Given the description of an element on the screen output the (x, y) to click on. 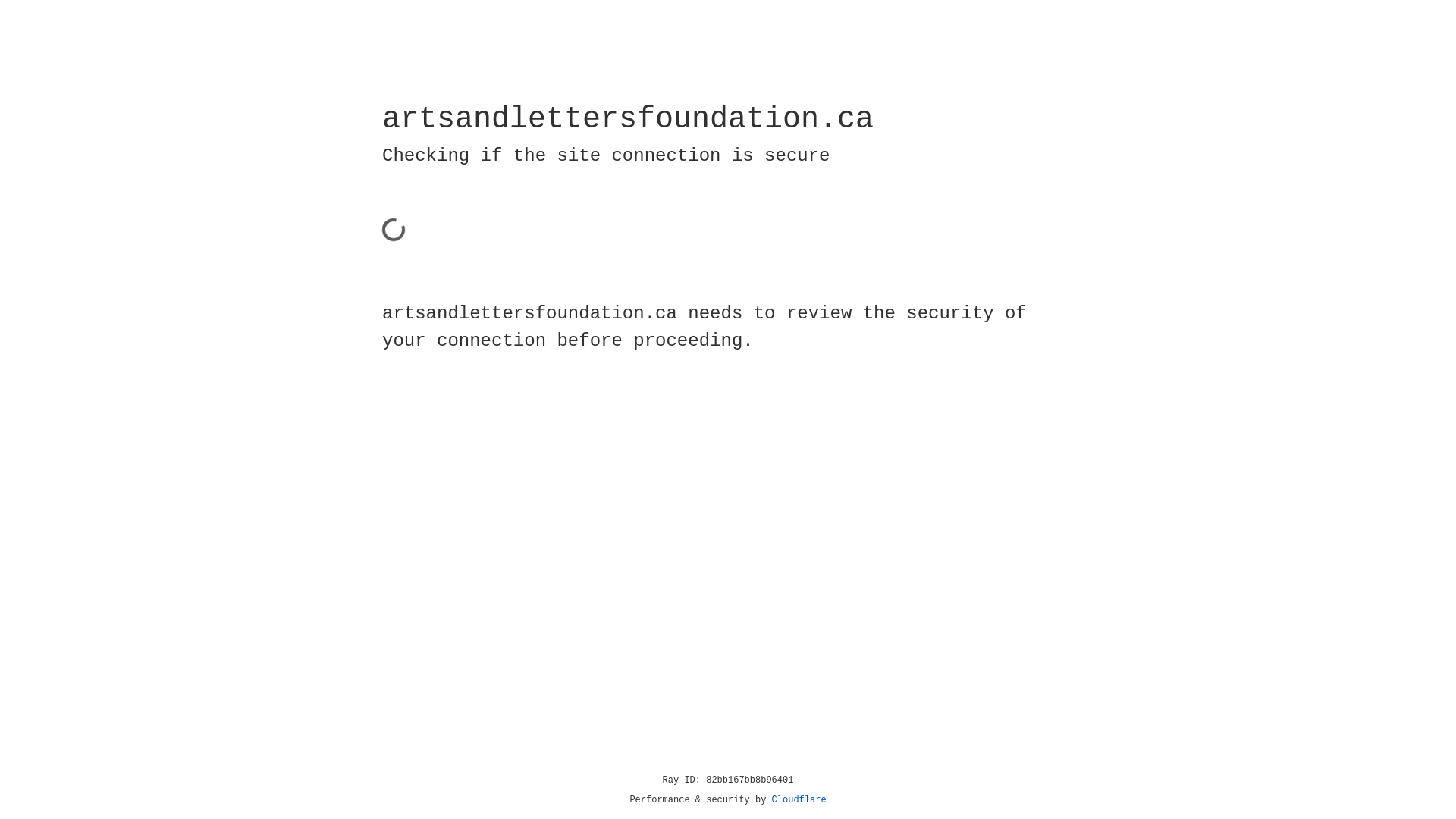
Cloudflare Element type: text (798, 799)
